Given the description of an element on the screen output the (x, y) to click on. 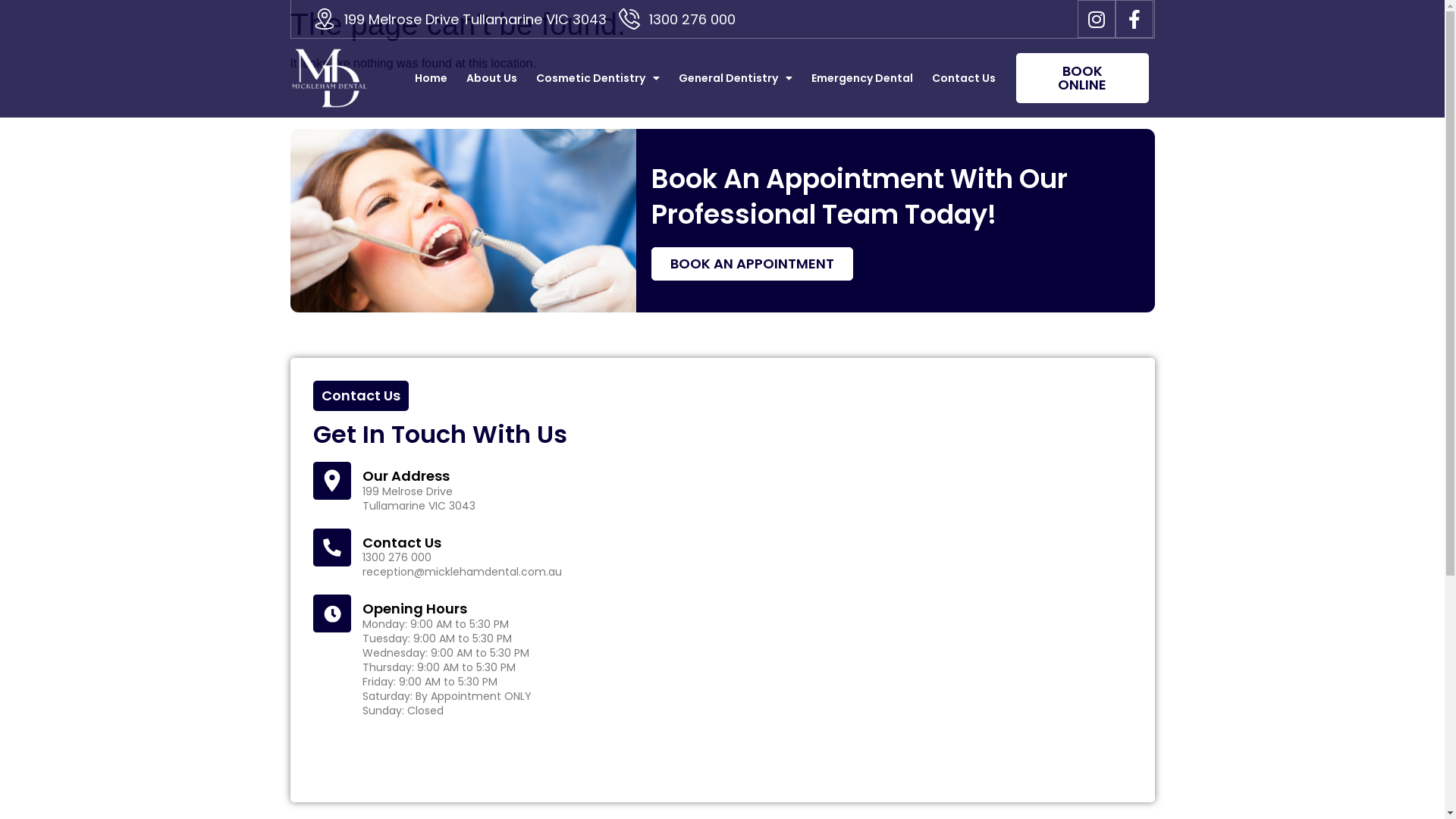
Cosmetic Dentistry Element type: text (597, 77)
Emergency Dental Element type: text (862, 77)
199 Melrose Drive Element type: hover (937, 579)
About Us Element type: text (491, 77)
BOOK ONLINE Element type: text (1082, 78)
BOOK AN APPOINTMENT Element type: text (751, 263)
General Dentistry Element type: text (735, 77)
Contact Us Element type: text (963, 77)
Home Element type: text (430, 77)
